Given the description of an element on the screen output the (x, y) to click on. 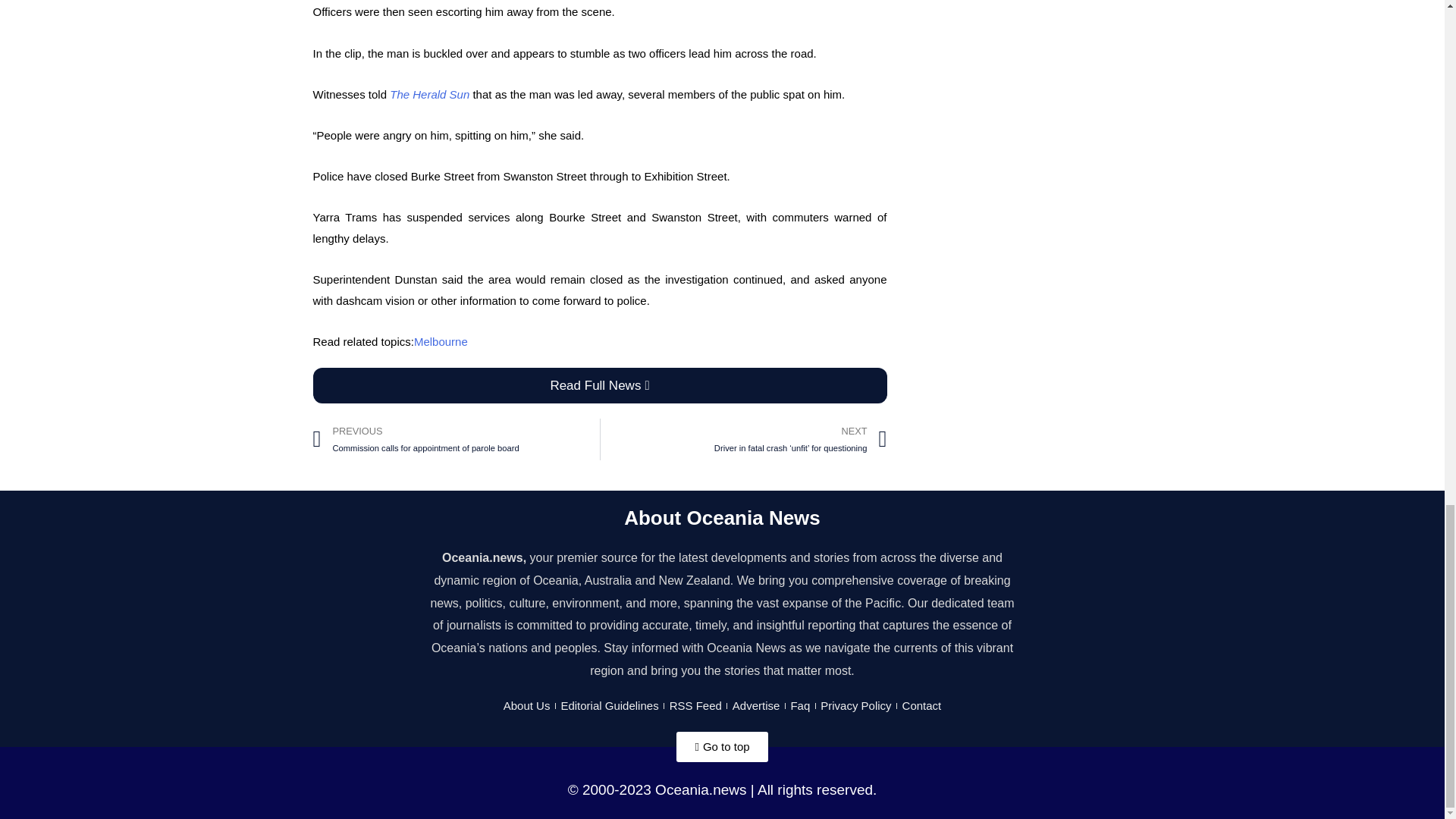
The Herald Sun (430, 93)
Melbourne (440, 341)
Read Full News (599, 385)
www.heraldsun.com.au (430, 93)
